Given the description of an element on the screen output the (x, y) to click on. 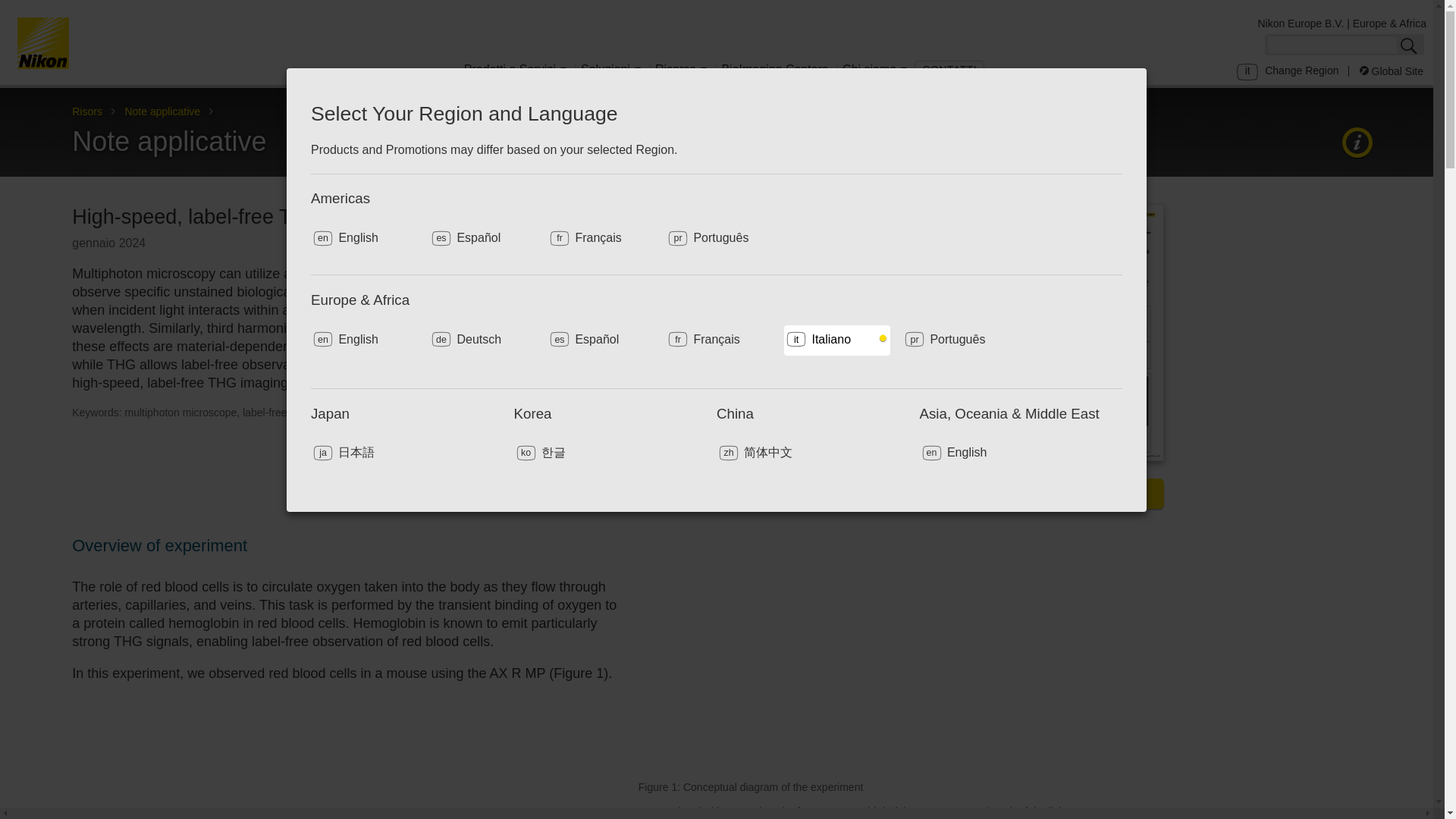
CONTATTI (949, 69)
Global Site (1391, 70)
BioImaging Centers (774, 72)
Chi siamo (874, 72)
Risorse (680, 72)
Soluzioni (610, 72)
Prodotti e Servizi (515, 72)
